Given the description of an element on the screen output the (x, y) to click on. 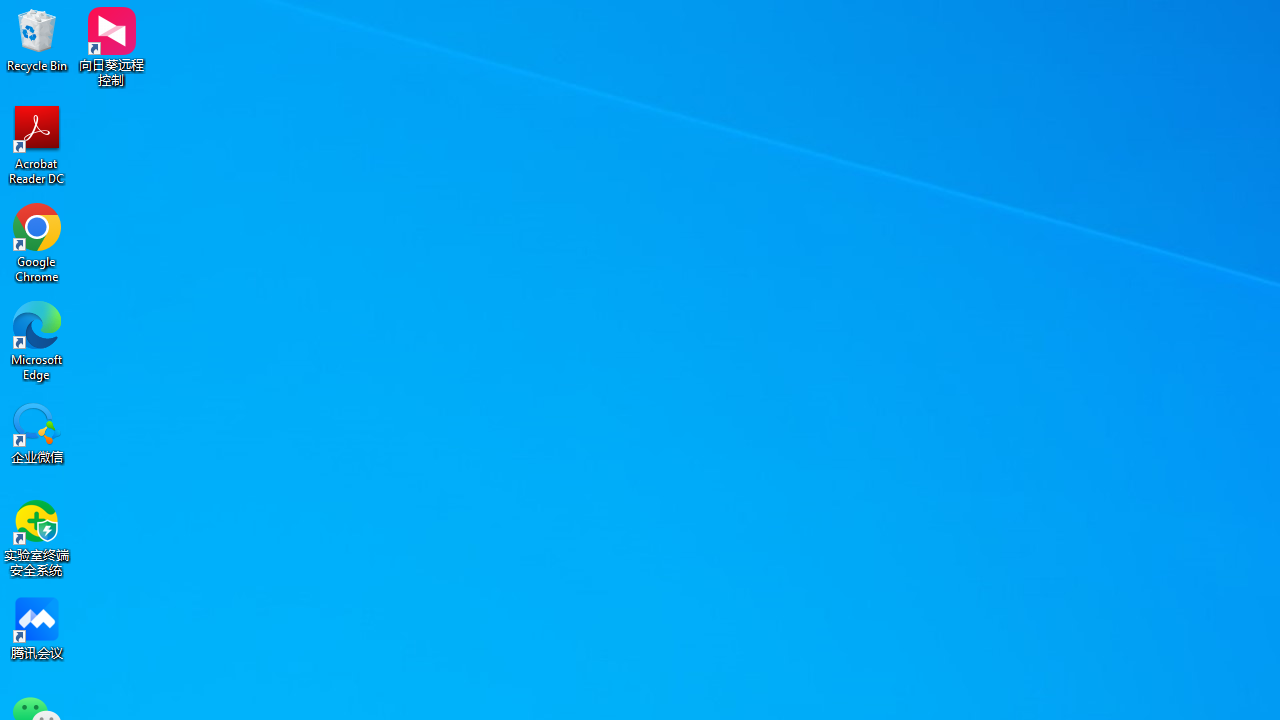
Format Painter (103, 126)
